Given the description of an element on the screen output the (x, y) to click on. 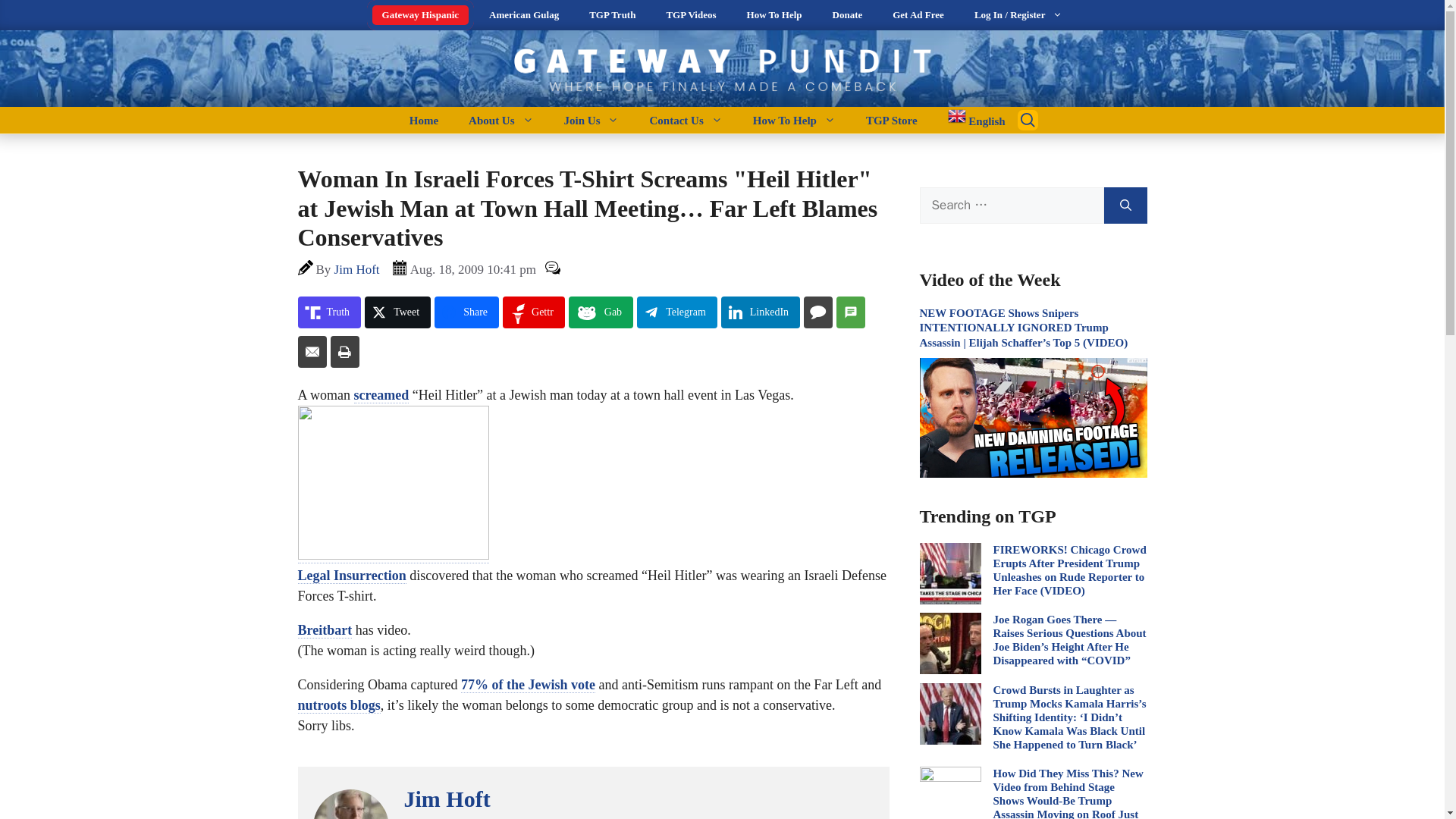
Share on Tweet (397, 312)
Join Us (591, 120)
TGP Truth (611, 15)
How To Help (794, 120)
American Gulag (523, 15)
Share on Truth (329, 312)
Get Ad Free (918, 15)
Share on Gettr (533, 312)
Share on Gab (601, 312)
How To Help (774, 15)
English (969, 120)
View all posts by Jim Hoft (357, 269)
